Given the description of an element on the screen output the (x, y) to click on. 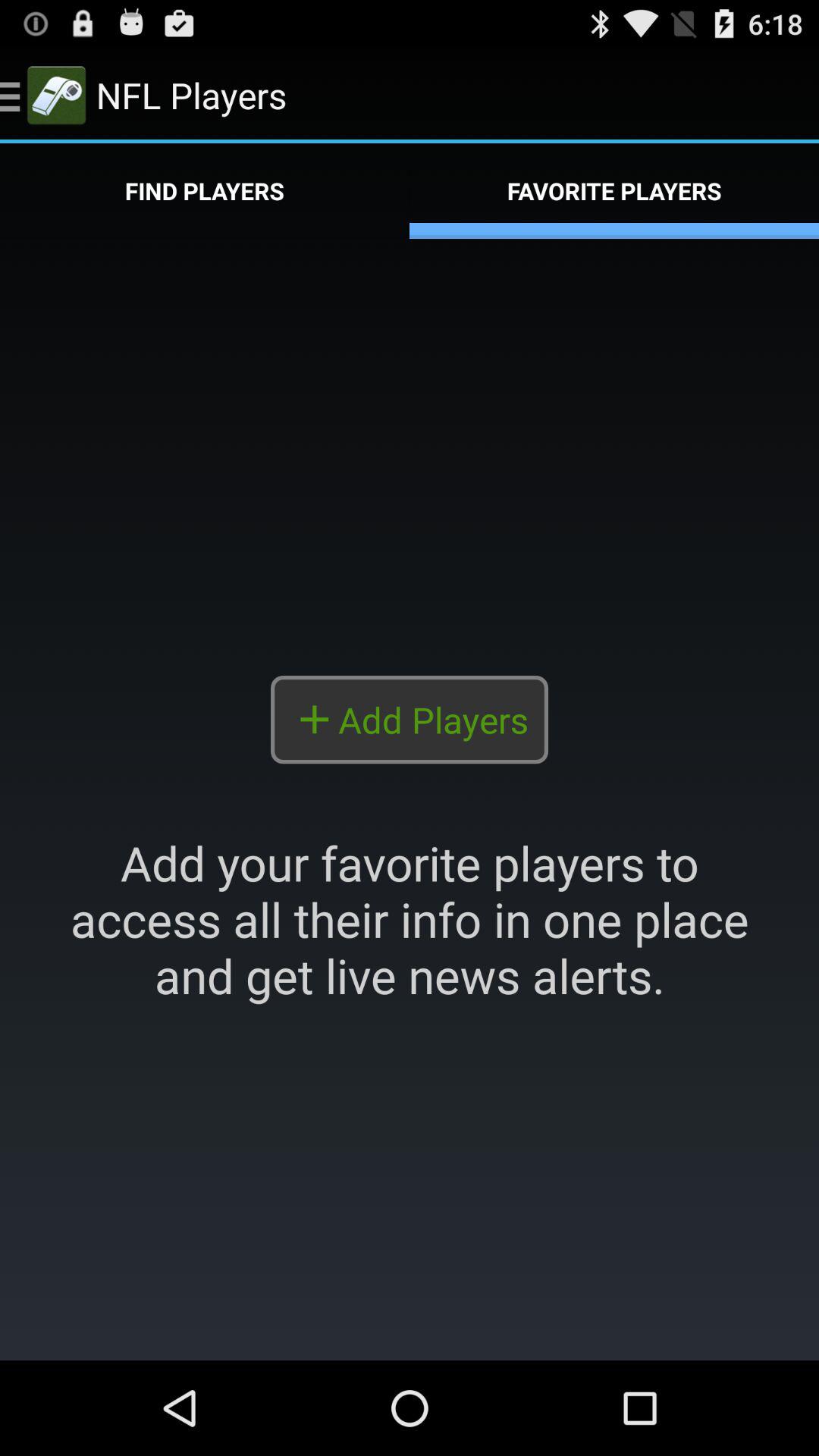
press the icon to the left of the favorite players icon (204, 190)
